Given the description of an element on the screen output the (x, y) to click on. 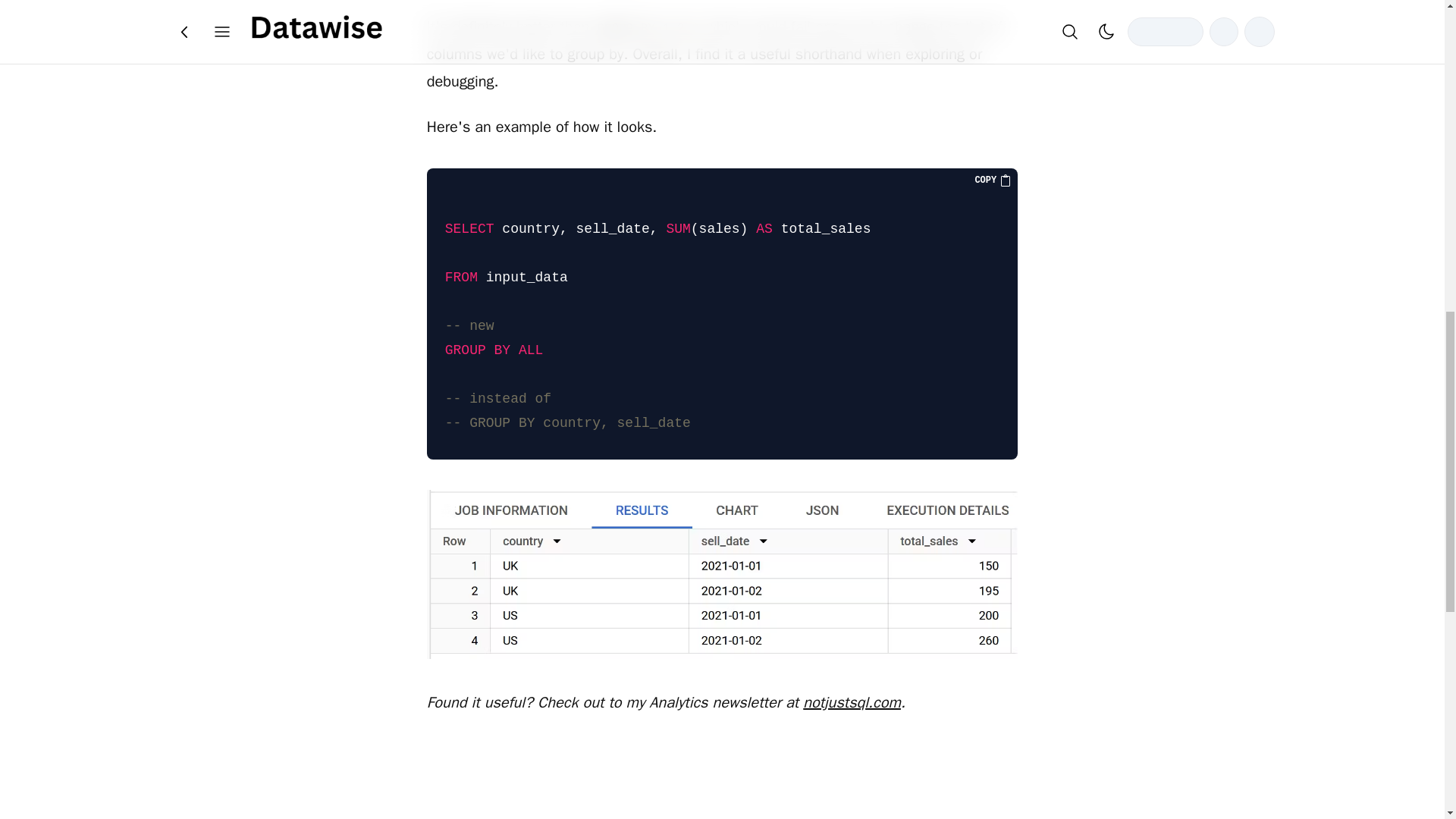
Add Bookmark (721, 24)
notjustsql.com (852, 701)
COPY (992, 180)
